Given the description of an element on the screen output the (x, y) to click on. 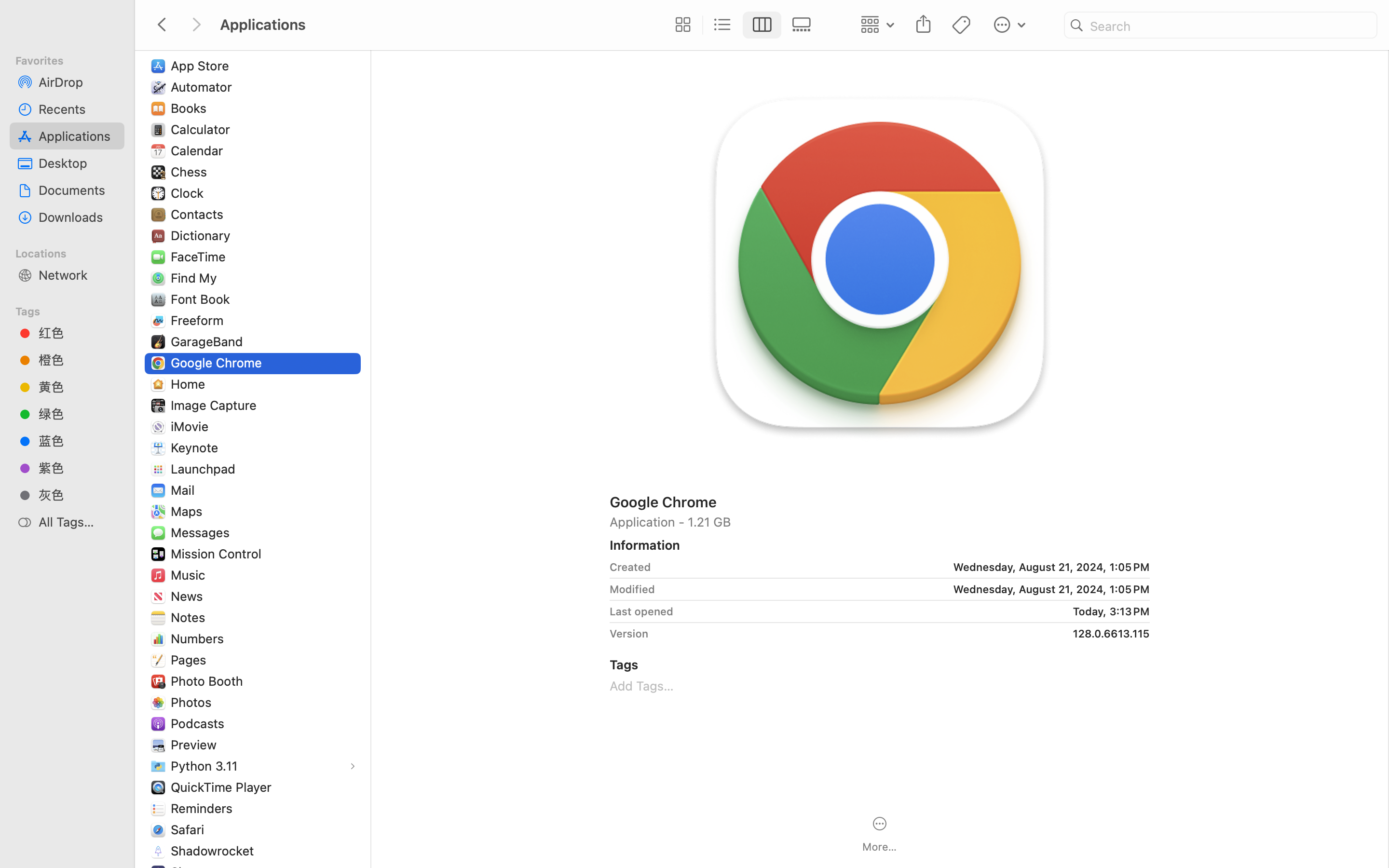
Keynote Element type: AXTextField (196, 447)
Photo Booth Element type: AXTextField (208, 680)
Find My Element type: AXTextField (195, 277)
Google Chrome Element type: AXStaticText (879, 501)
Version Element type: AXStaticText (628, 633)
